Given the description of an element on the screen output the (x, y) to click on. 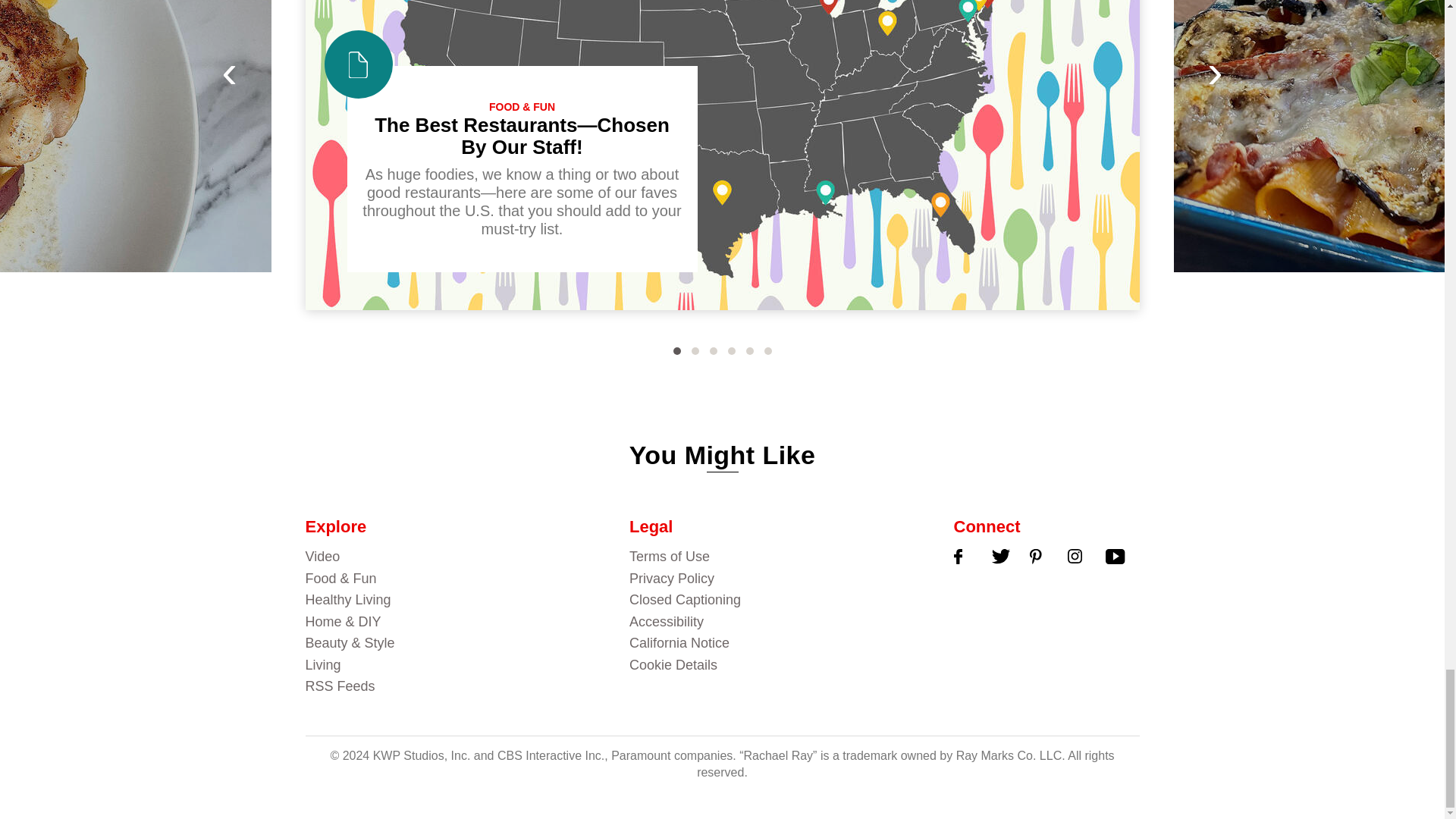
Accessibility (775, 621)
